Given the description of an element on the screen output the (x, y) to click on. 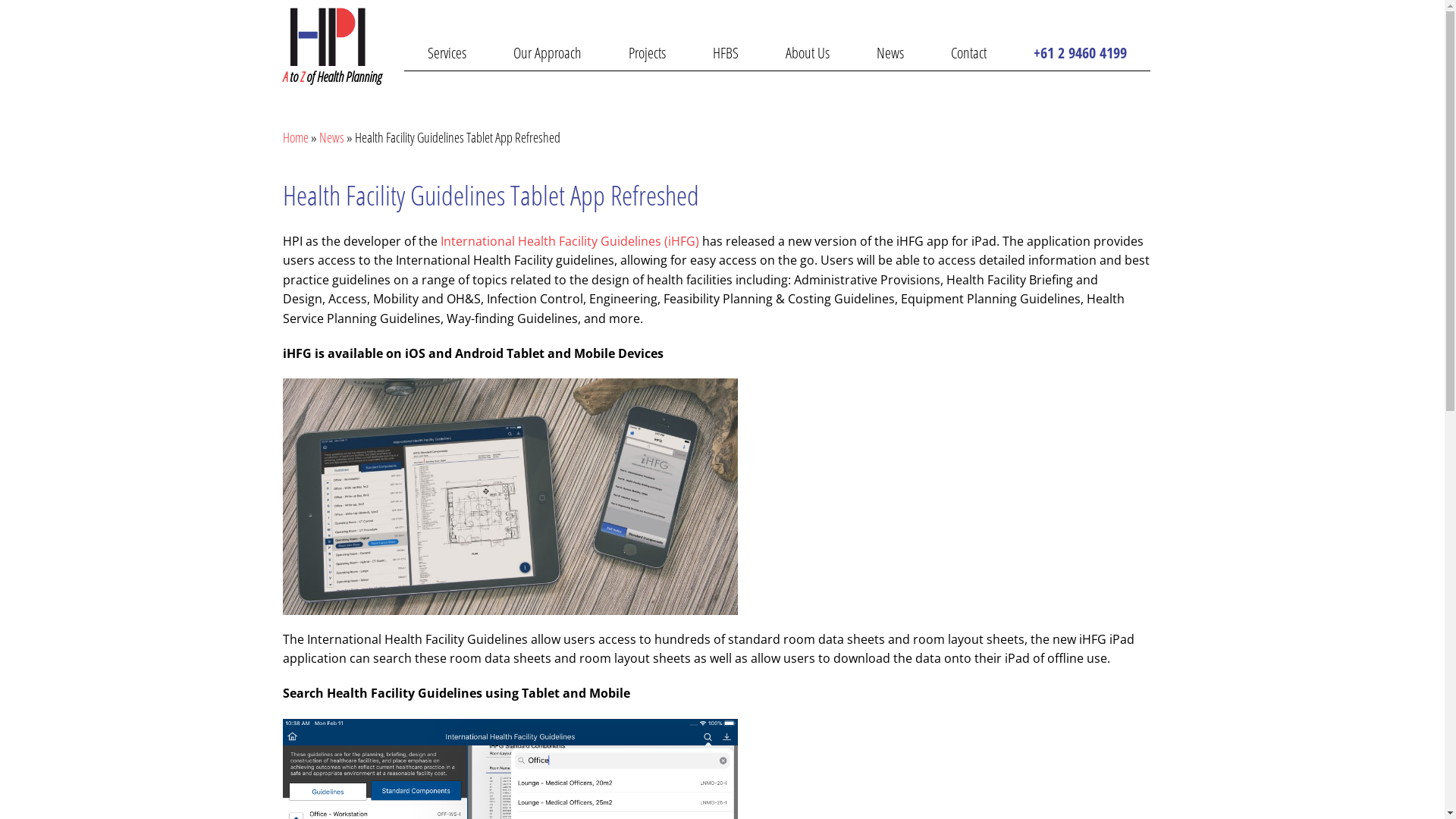
Services Element type: text (446, 52)
News Element type: text (889, 52)
Our Approach Element type: text (547, 52)
Home Element type: text (294, 137)
News Element type: text (330, 137)
+61 2 9460 4199 Element type: text (1080, 52)
Projects Element type: text (647, 52)
HFBS Element type: text (724, 52)
International Health Facility Guidelines (iHFG) Element type: text (568, 240)
Contact Element type: text (967, 52)
About Us Element type: text (806, 52)
